Given the description of an element on the screen output the (x, y) to click on. 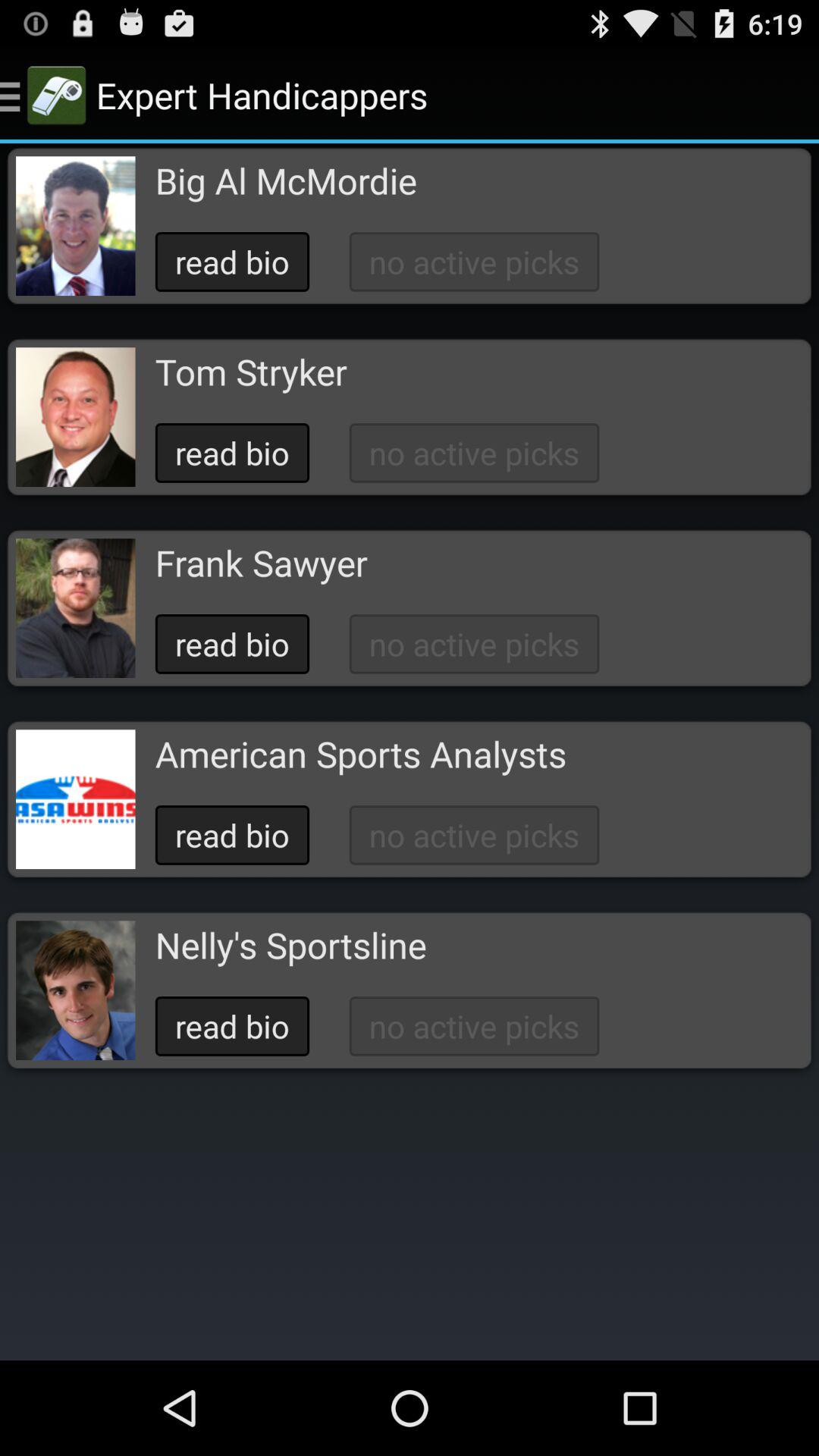
turn on big al mcmordie item (285, 180)
